Given the description of an element on the screen output the (x, y) to click on. 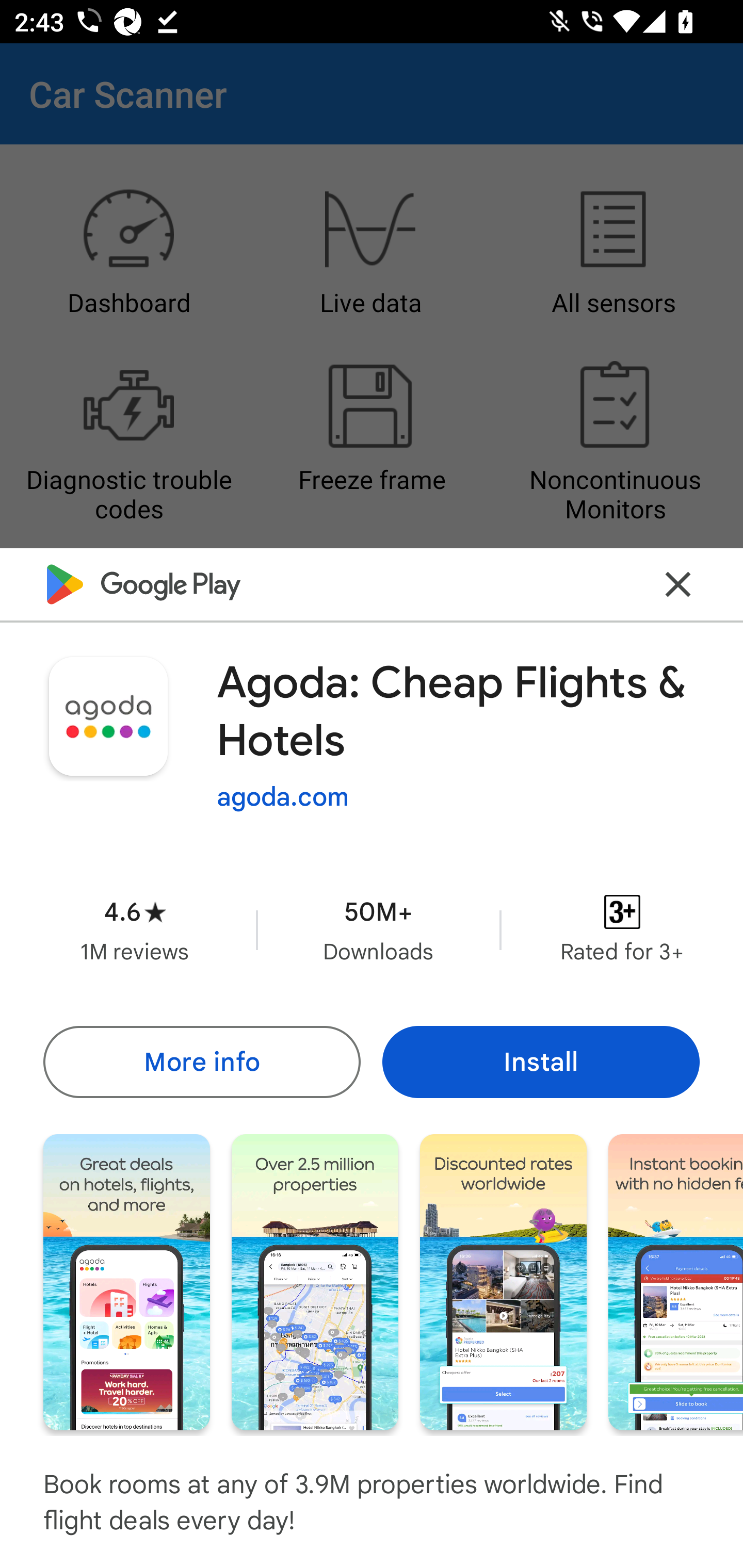
Close (677, 584)
agoda.com (282, 796)
More info (201, 1061)
Install (540, 1061)
Screenshot "1" of "8" (126, 1281)
Screenshot "2" of "8" (314, 1281)
Screenshot "3" of "8" (502, 1281)
Screenshot "4" of "8" (675, 1281)
